Given the description of an element on the screen output the (x, y) to click on. 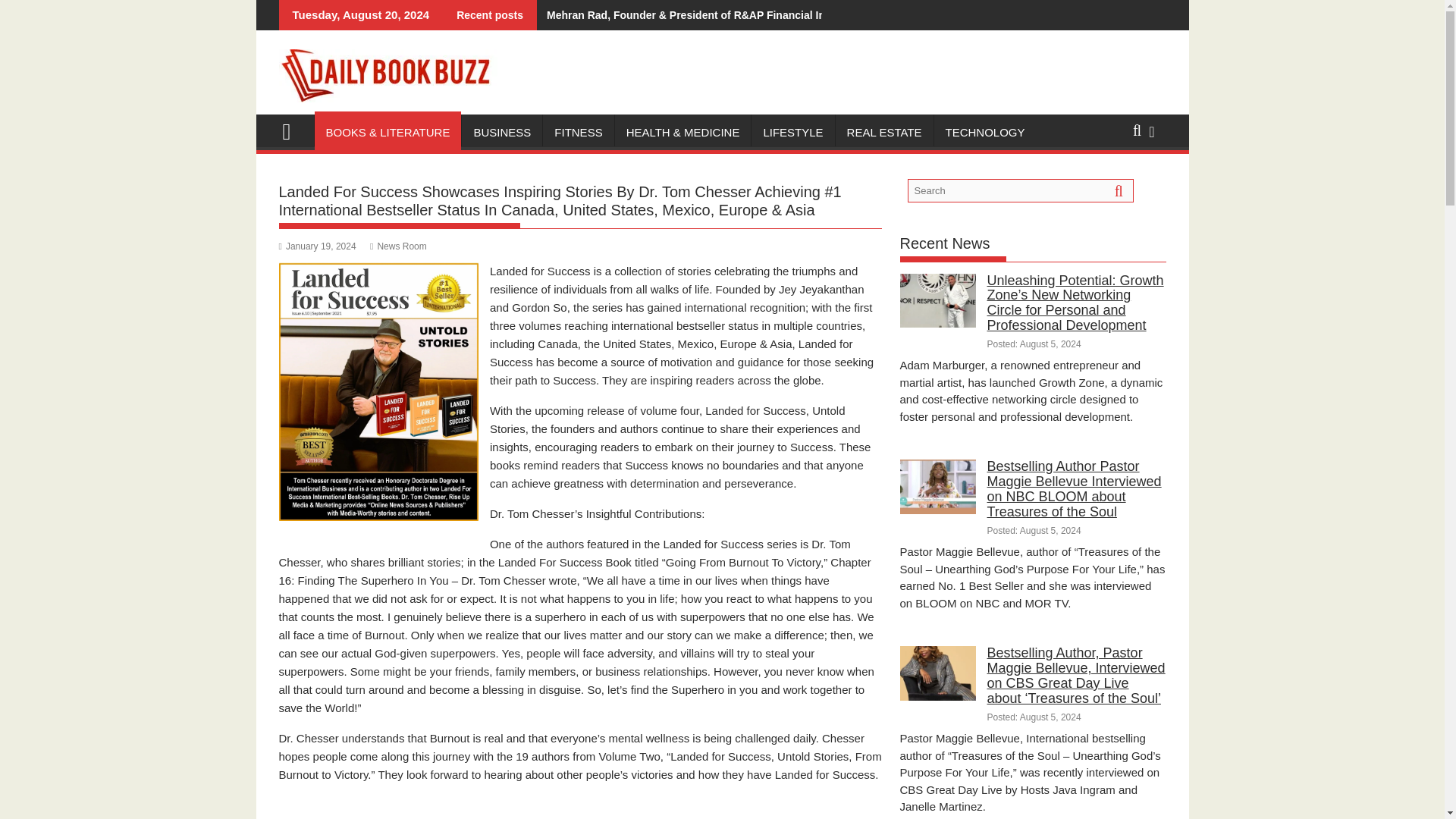
TECHNOLOGY (985, 132)
LIFESTYLE (792, 132)
News Room (397, 245)
FITNESS (577, 132)
January 19, 2024 (317, 245)
DAILY BOOK BUZZ (293, 129)
REAL ESTATE (884, 132)
BUSINESS (501, 132)
